Given the description of an element on the screen output the (x, y) to click on. 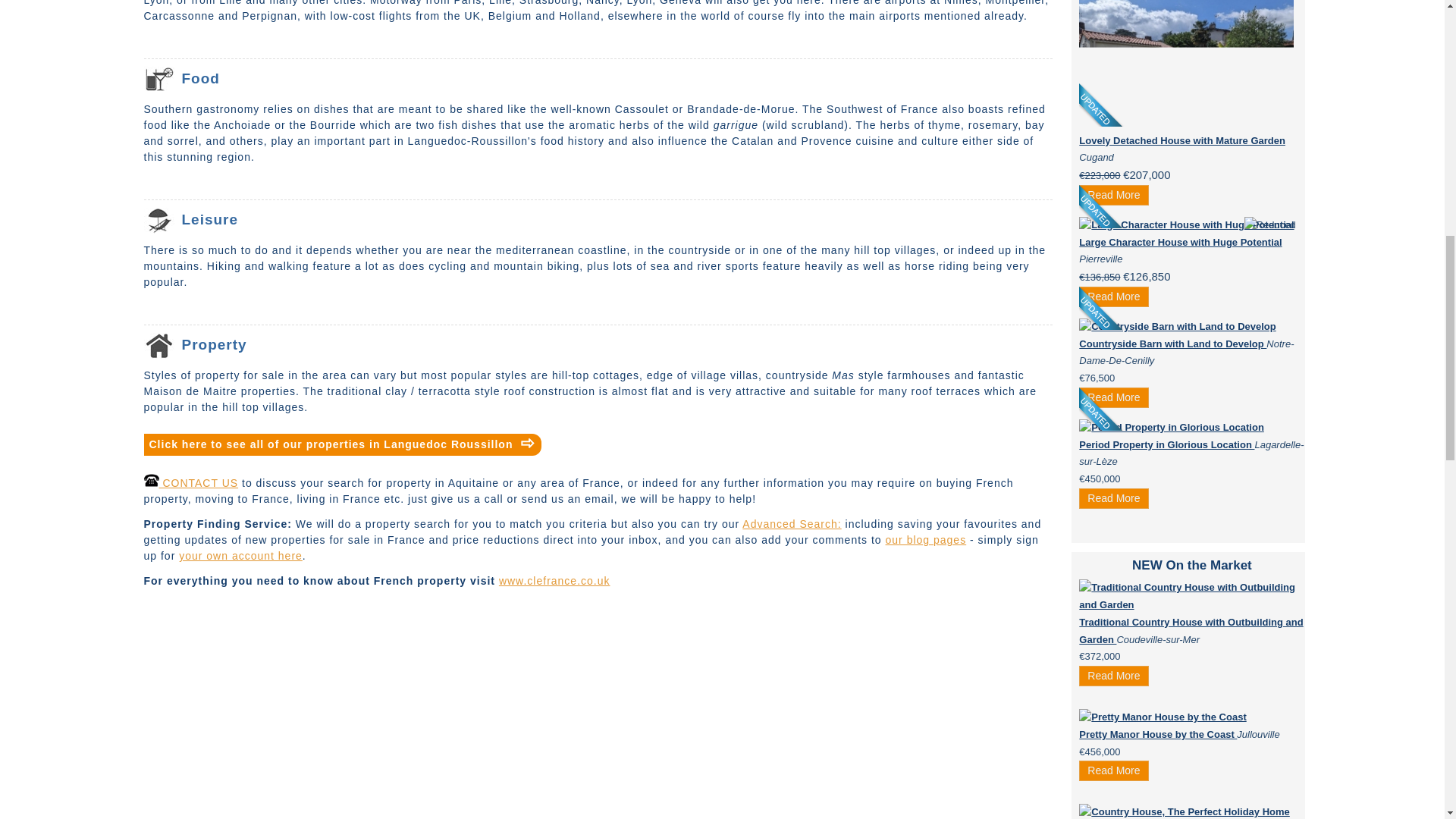
Languedoc Roussillon (330, 444)
Property for sale in France - Contact Us (191, 482)
Database Updated (1101, 103)
Cle France Blog pages (925, 539)
Property for sale in France - Advanced Search (791, 523)
Open a Cle France account (240, 555)
